Given the description of an element on the screen output the (x, y) to click on. 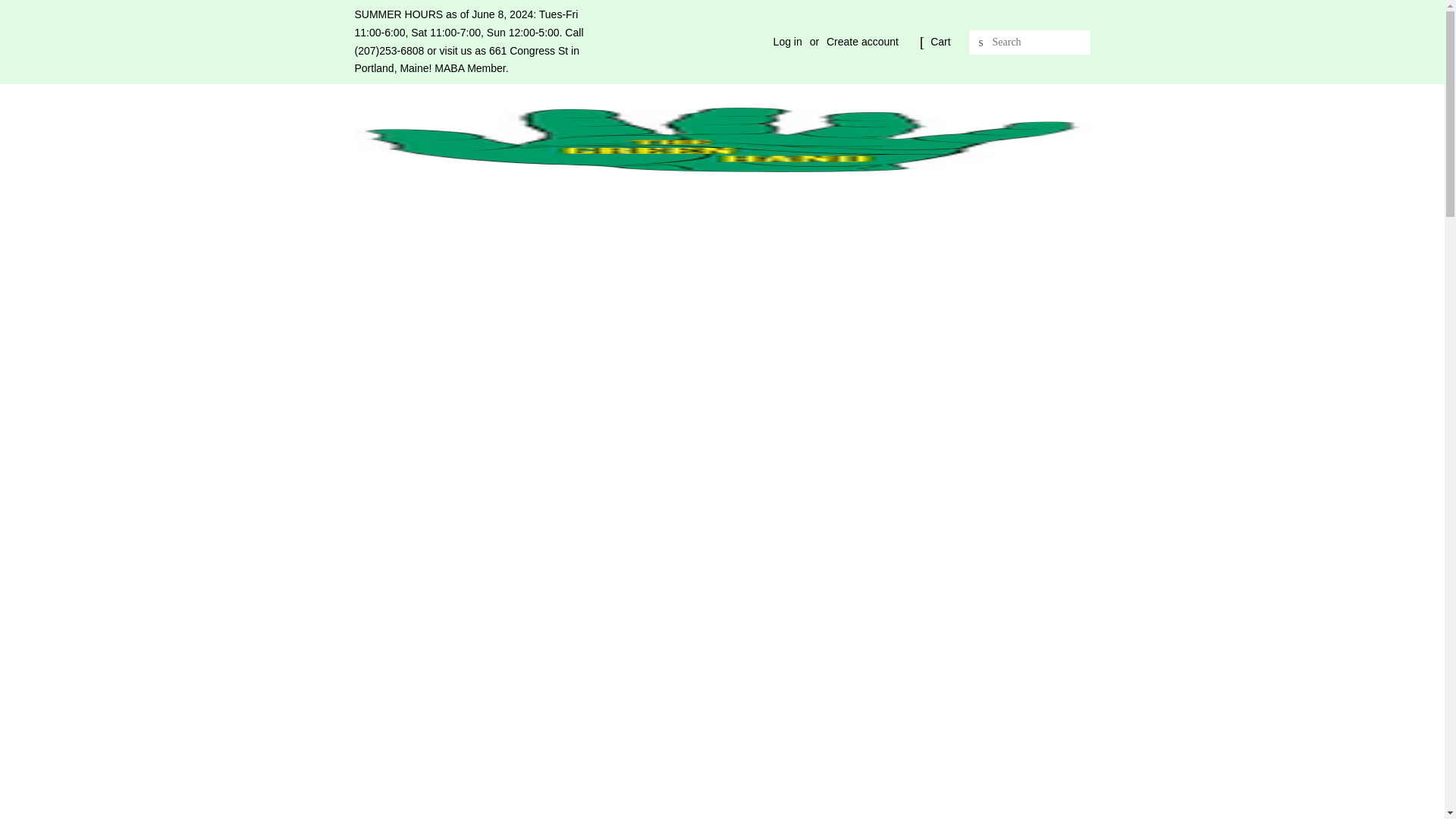
Log in (787, 41)
Create account (862, 41)
Cart (940, 42)
Search (980, 42)
